Given the description of an element on the screen output the (x, y) to click on. 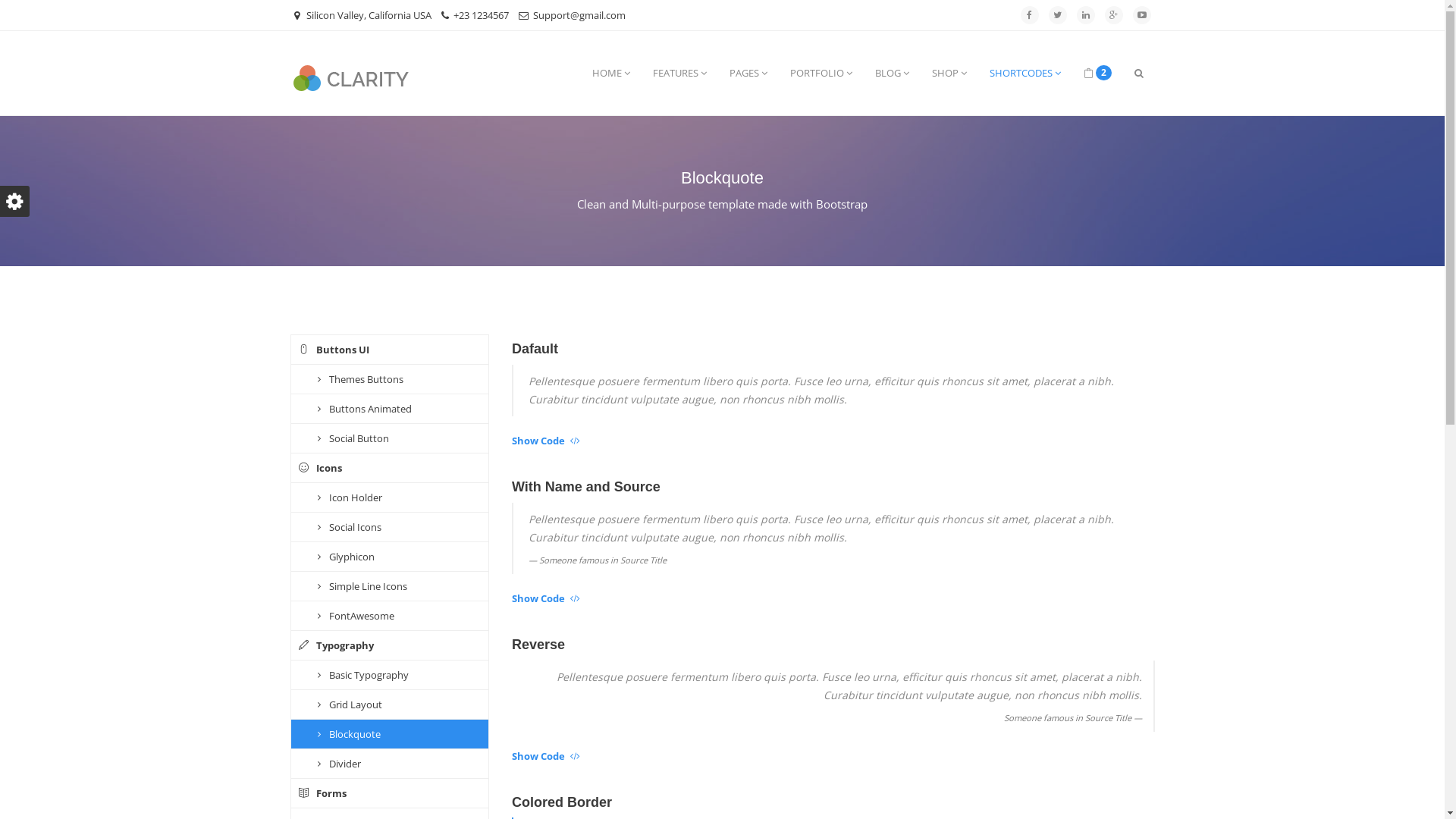
Social Icons Element type: text (390, 527)
SHOP Element type: text (949, 72)
PORTFOLIO Element type: text (820, 72)
Typography Element type: text (390, 645)
Buttons UI Element type: text (390, 349)
SHORTCODES Element type: text (1025, 72)
Simple Line Icons Element type: text (390, 586)
Show Code Element type: text (537, 440)
Show Code Element type: text (537, 598)
Show Code Element type: text (537, 755)
Blockquote Element type: text (390, 734)
2 Element type: text (1097, 72)
Grid Layout Element type: text (390, 704)
PAGES Element type: text (747, 72)
Basic Typography Element type: text (390, 675)
Buttons Animated Element type: text (390, 408)
Social Button Element type: text (390, 438)
Icons Element type: text (390, 468)
FontAwesome Element type: text (390, 615)
Glyphicon Element type: text (390, 556)
HOME Element type: text (610, 72)
BLOG Element type: text (890, 72)
Icon Holder Element type: text (390, 497)
Forms Element type: text (390, 793)
Themes Buttons Element type: text (390, 379)
FEATURES Element type: text (679, 72)
Divider Element type: text (390, 763)
